Given the description of an element on the screen output the (x, y) to click on. 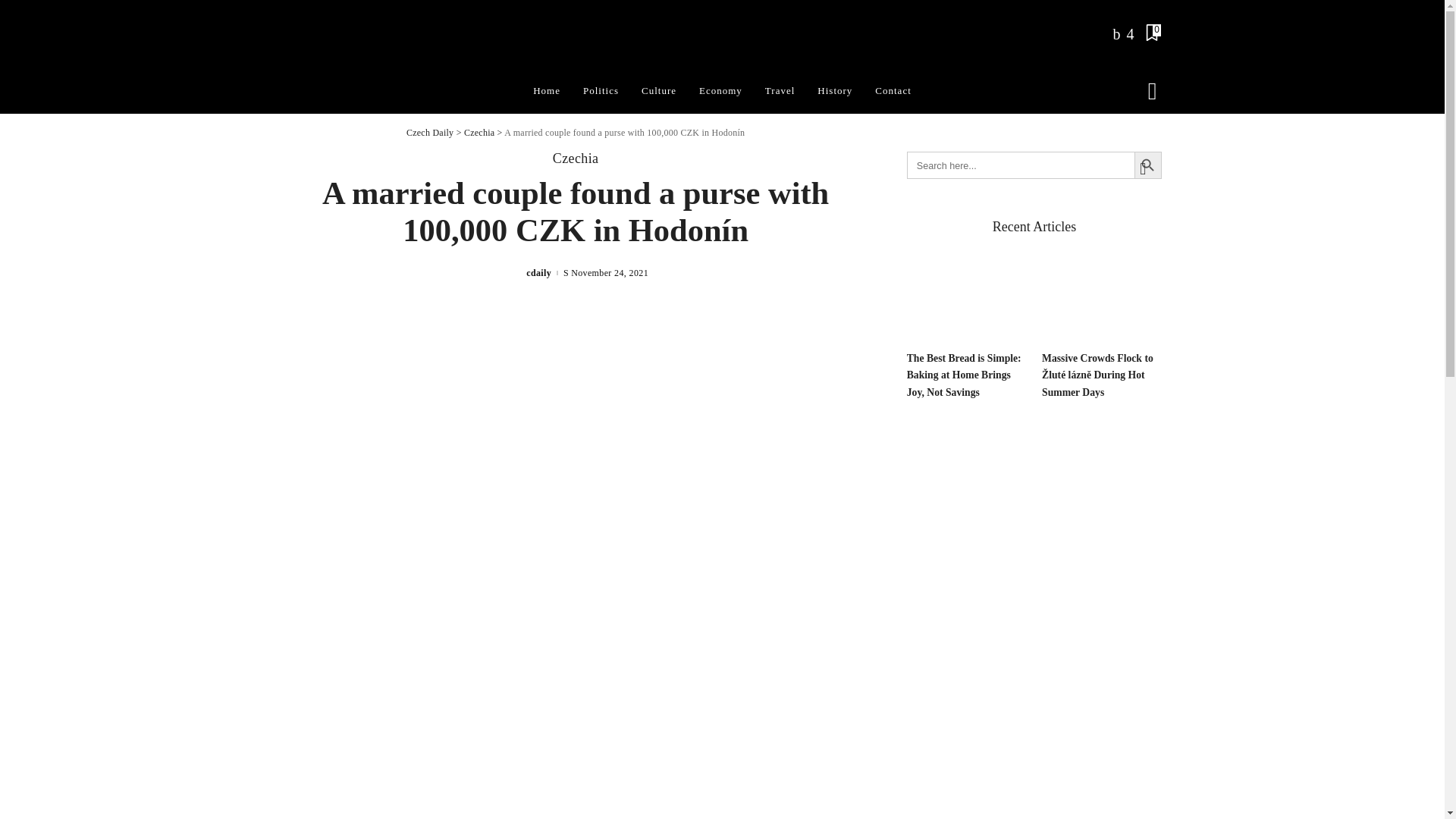
Travel (780, 90)
Economy (720, 90)
Politics (601, 90)
History (834, 90)
Contact (892, 90)
Culture (658, 90)
Home (546, 90)
